Given the description of an element on the screen output the (x, y) to click on. 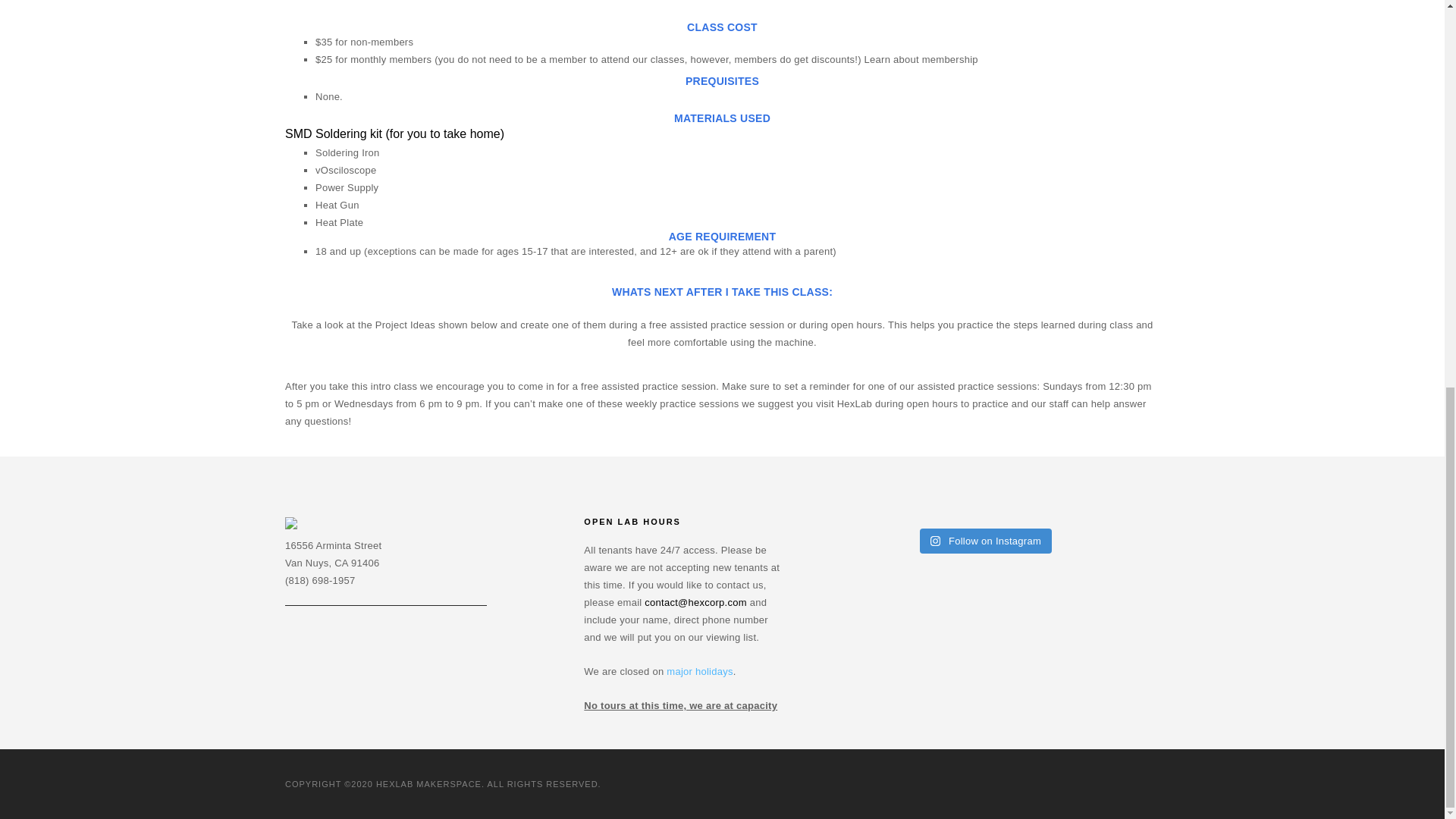
Follow on Instagram (985, 541)
Holiday Schedule (699, 671)
major holidays (699, 671)
